Given the description of an element on the screen output the (x, y) to click on. 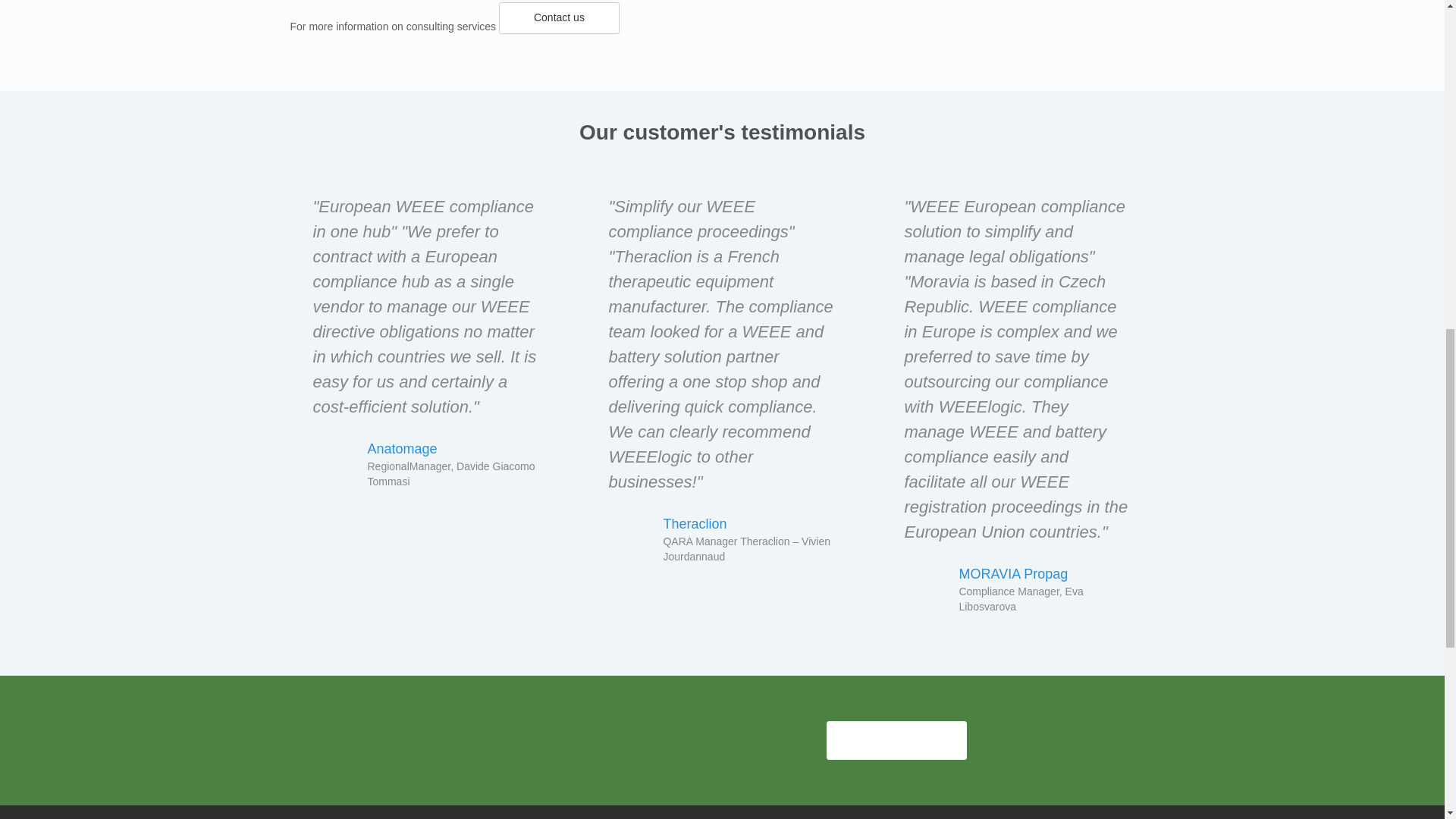
Contact us (896, 740)
Contact us (559, 18)
Anatomage (401, 448)
Theraclion (694, 523)
MORAVIA Propag (1012, 573)
